Given the description of an element on the screen output the (x, y) to click on. 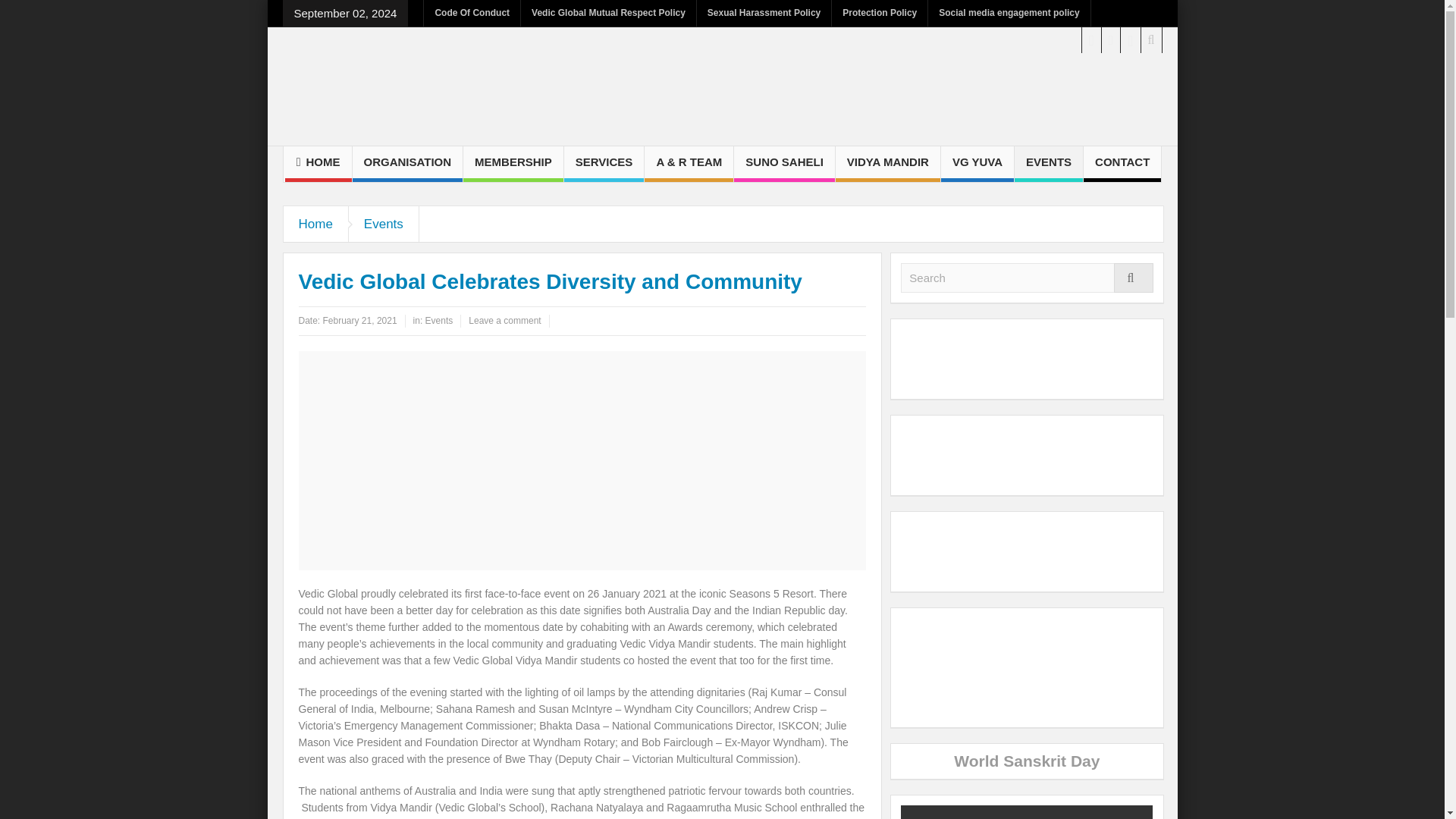
Search (1027, 277)
Social media engagement policy (1008, 13)
Search (1027, 277)
SERVICES (604, 163)
Vedic Global Mutual Respect Policy (608, 13)
Code Of Conduct (471, 13)
ORGANISATION (407, 163)
MEMBERSHIP (513, 163)
Events (384, 223)
Sexual Harassment Policy (764, 13)
